Given the description of an element on the screen output the (x, y) to click on. 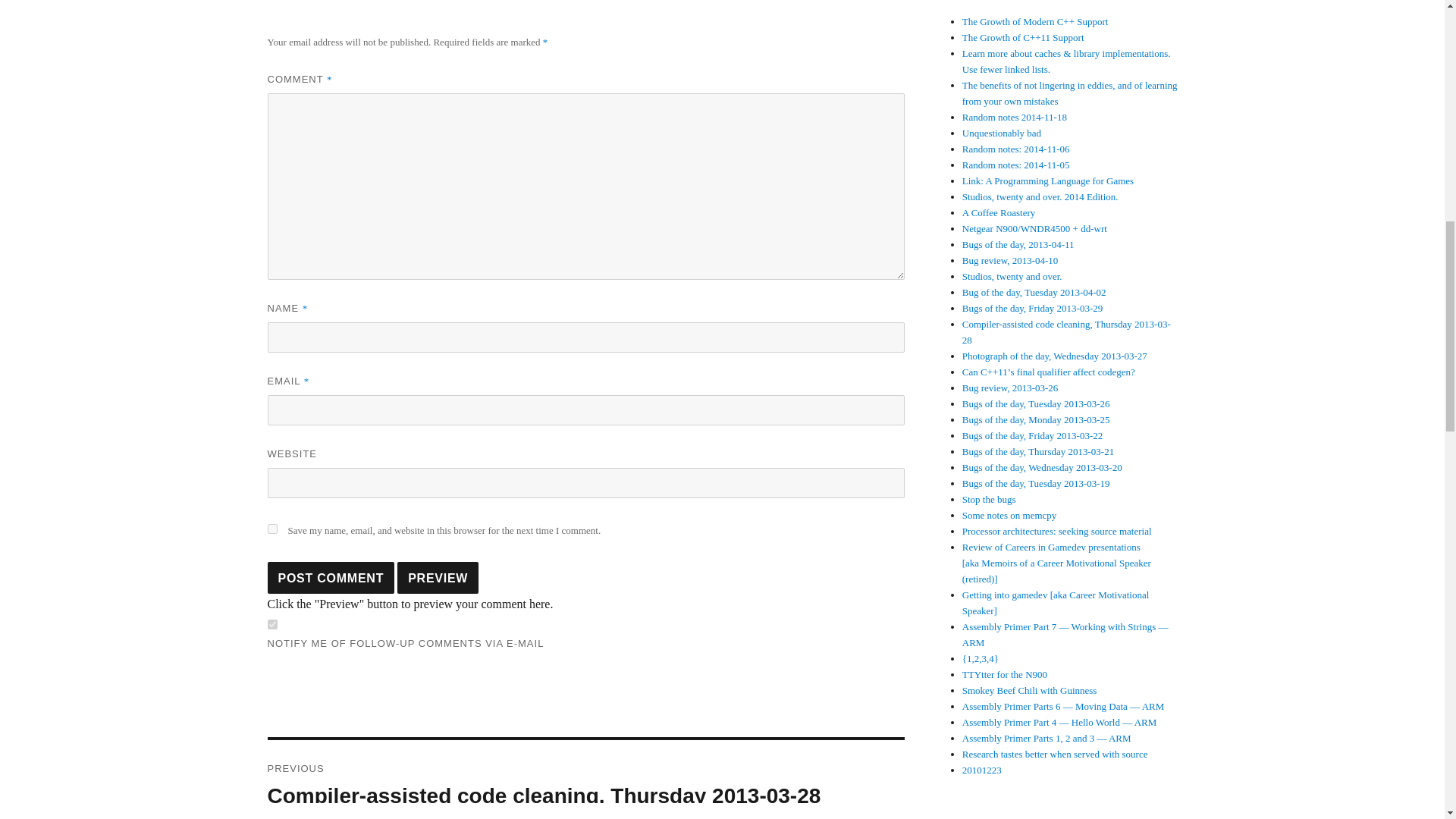
Post Comment (330, 577)
Preview (438, 577)
Post Comment (330, 577)
yes (271, 528)
